Given the description of an element on the screen output the (x, y) to click on. 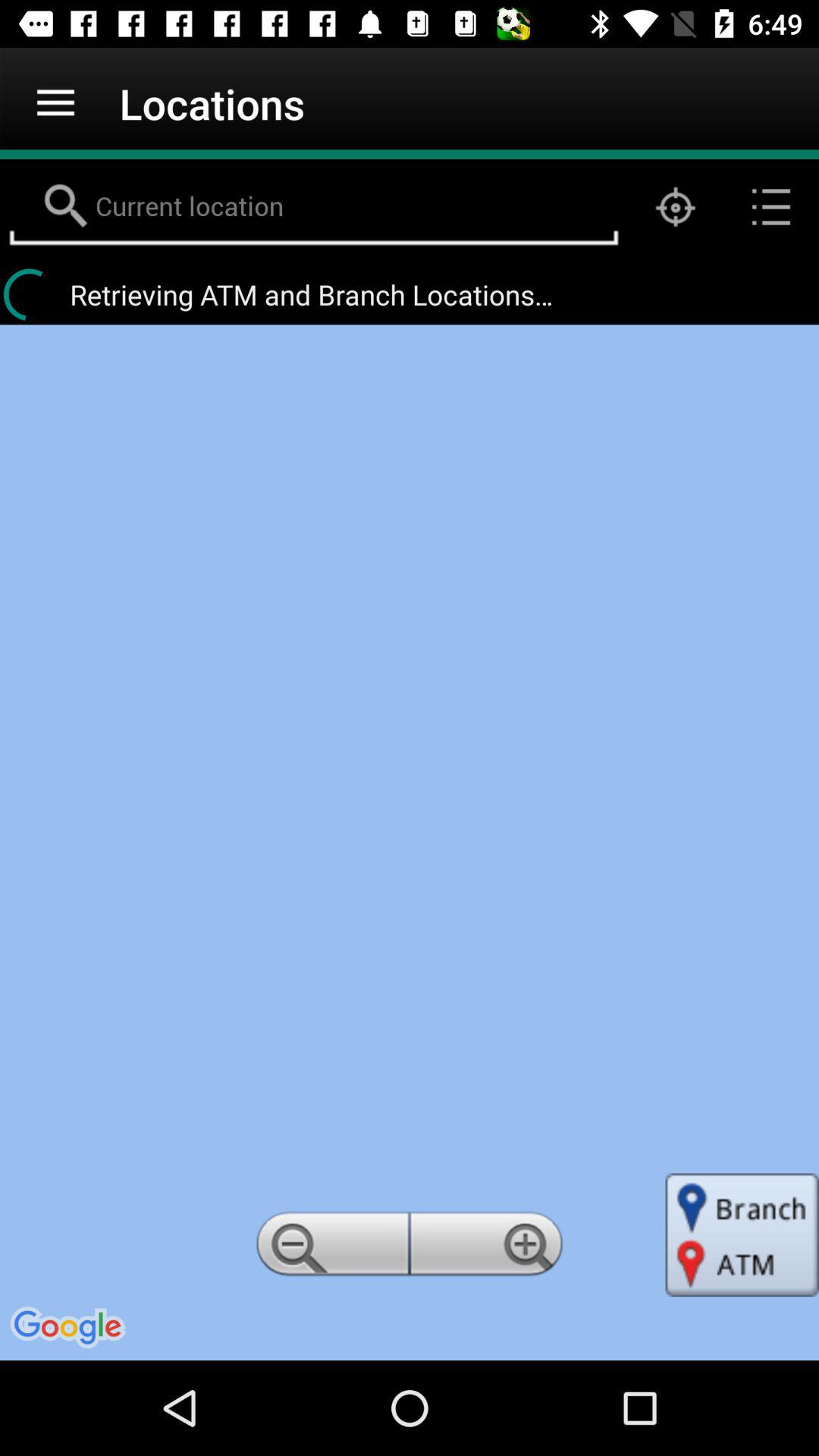
settings (488, 1248)
